Given the description of an element on the screen output the (x, y) to click on. 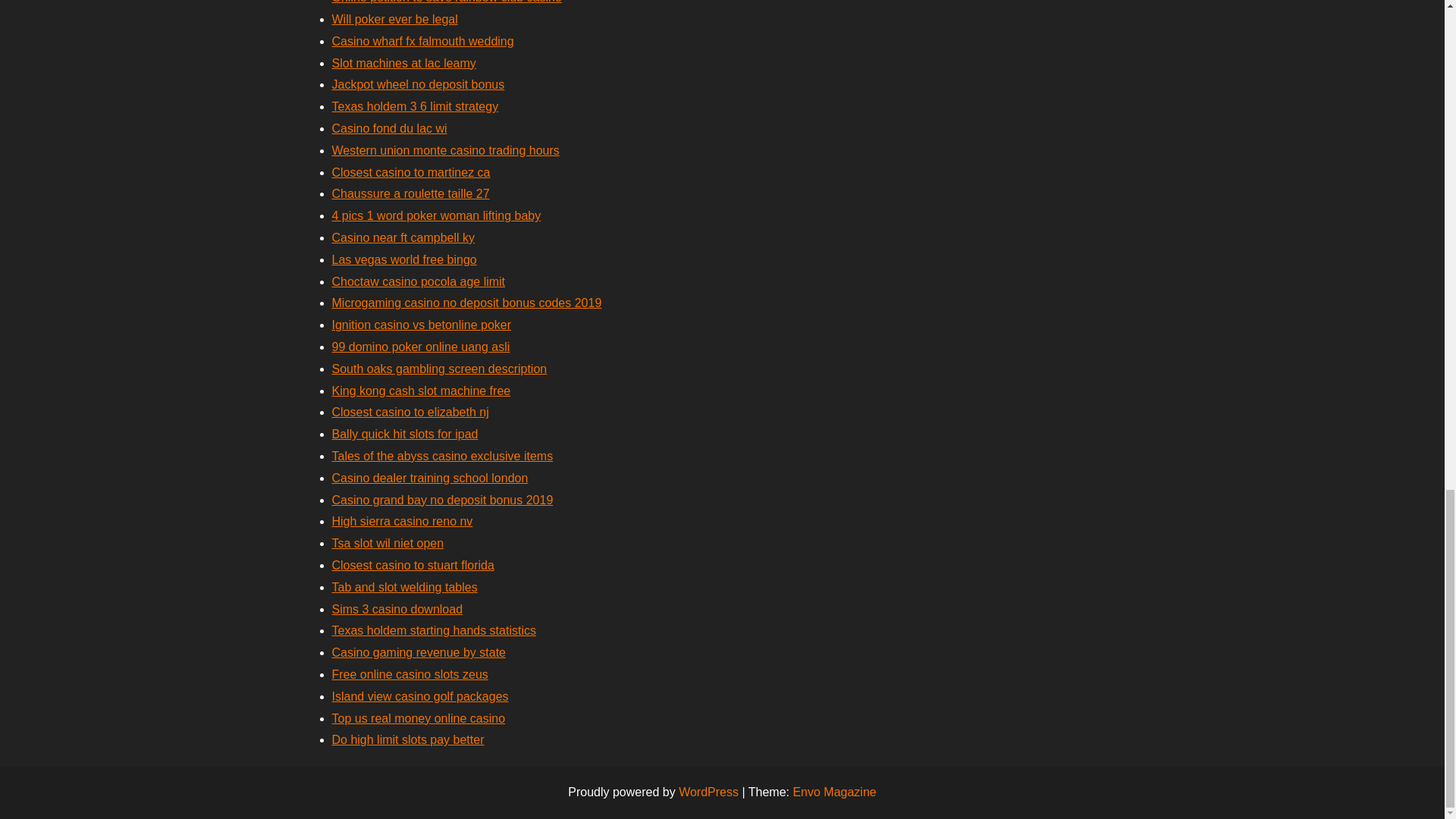
Tab and slot welding tables (404, 586)
High sierra casino reno nv (402, 521)
Chaussure a roulette taille 27 (410, 193)
Microgaming casino no deposit bonus codes 2019 (466, 302)
Casino dealer training school london (429, 477)
Choctaw casino pocola age limit (418, 281)
Online petition to save rainbow club casino (446, 2)
South oaks gambling screen description (439, 368)
Casino grand bay no deposit bonus 2019 (442, 499)
Closest casino to stuart florida (413, 564)
